Given the description of an element on the screen output the (x, y) to click on. 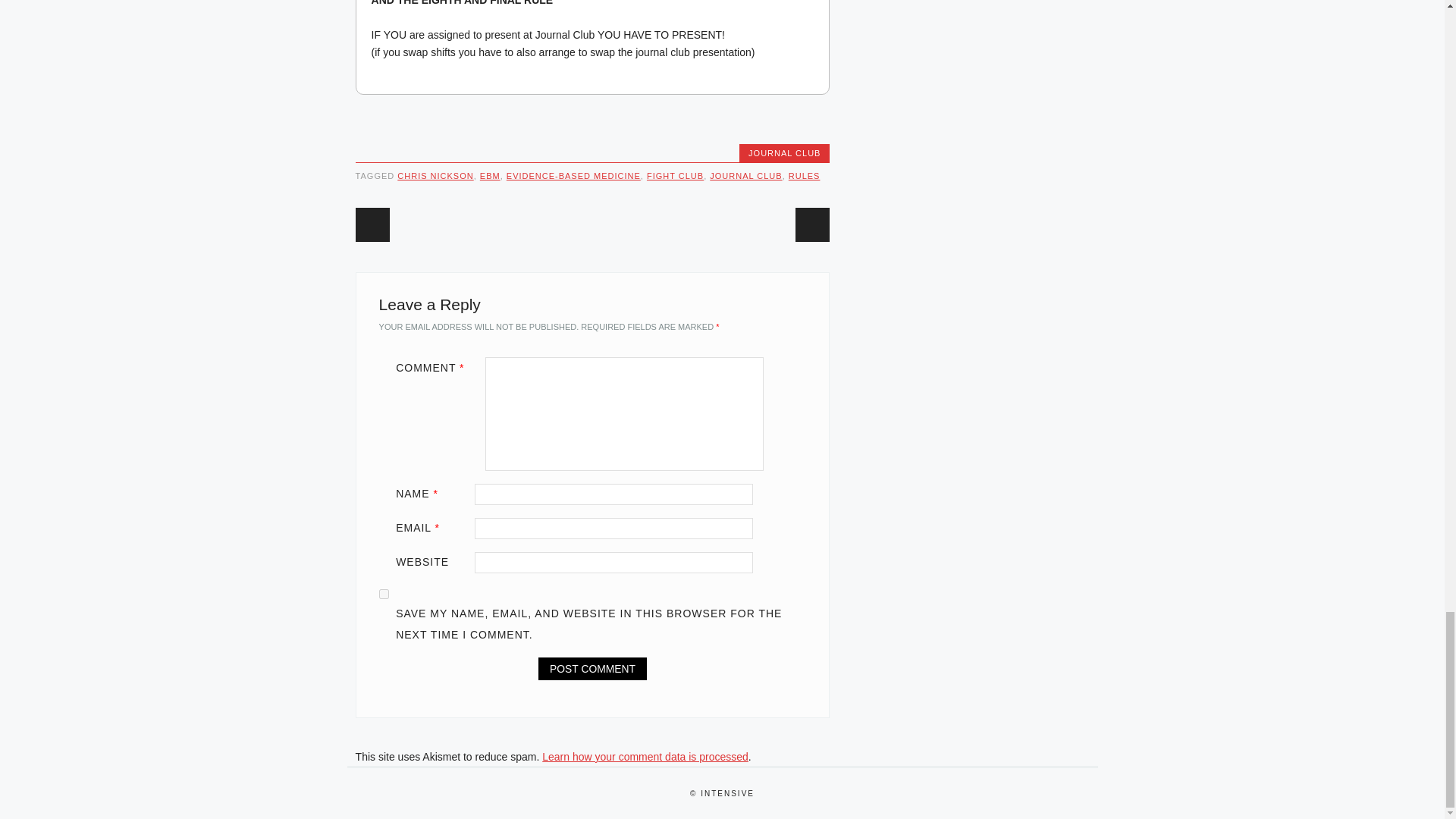
JOURNAL CLUB (745, 175)
JOURNAL CLUB (784, 153)
CHRIS NICKSON (435, 175)
Post Comment (592, 668)
FIGHT CLUB (674, 175)
Learn how your comment data is processed (644, 756)
EBM (490, 175)
EVIDENCE-BASED MEDICINE (573, 175)
Post Comment (592, 668)
yes (383, 593)
RULES (805, 175)
